Given the description of an element on the screen output the (x, y) to click on. 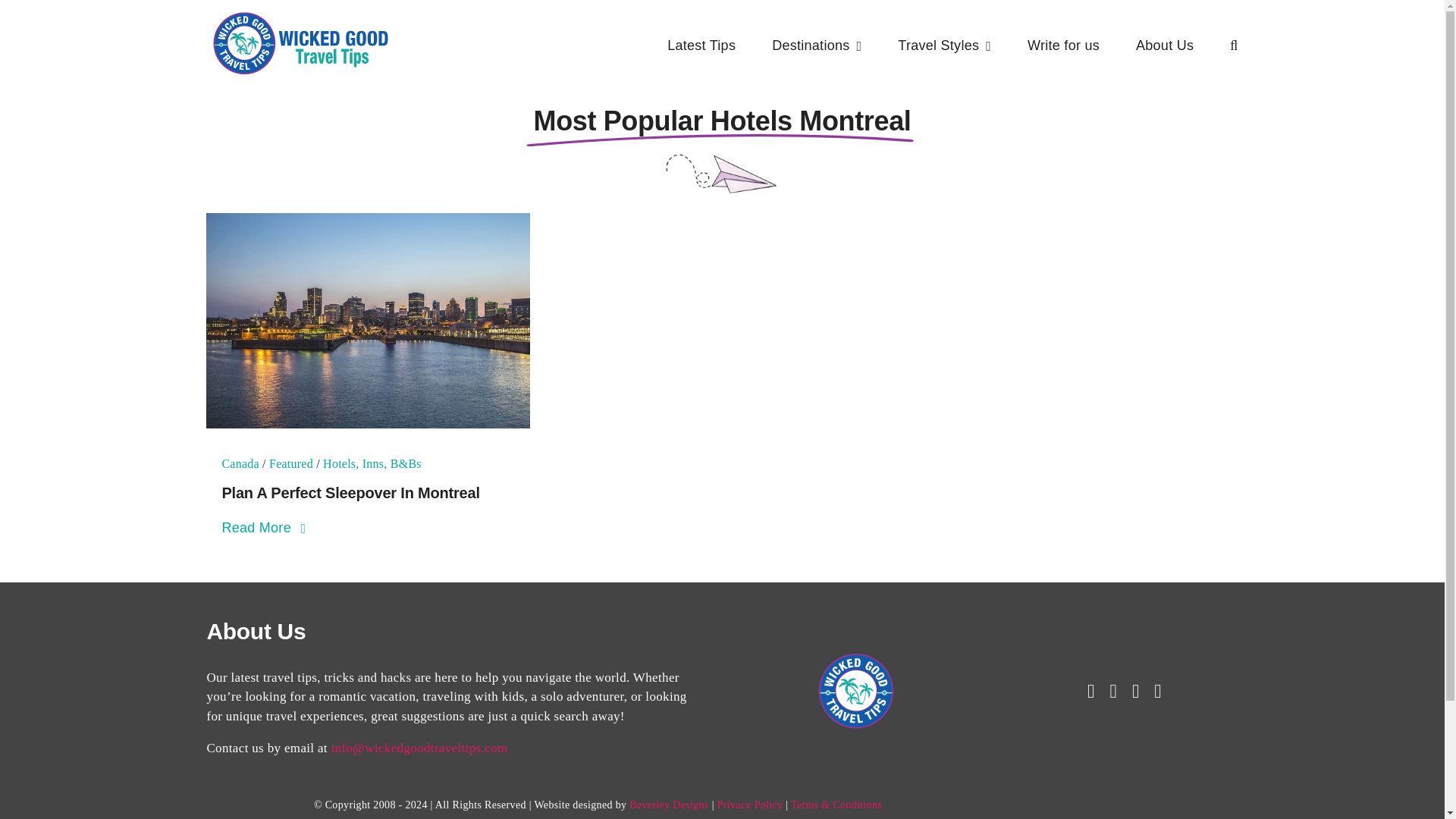
Canada (240, 463)
paper-plane2 (721, 175)
Favicon (855, 690)
Destinations (816, 45)
About Us (1164, 45)
Travel Styles (944, 45)
Latest Tips (700, 45)
Featured (291, 463)
Write for us (1063, 45)
